Given the description of an element on the screen output the (x, y) to click on. 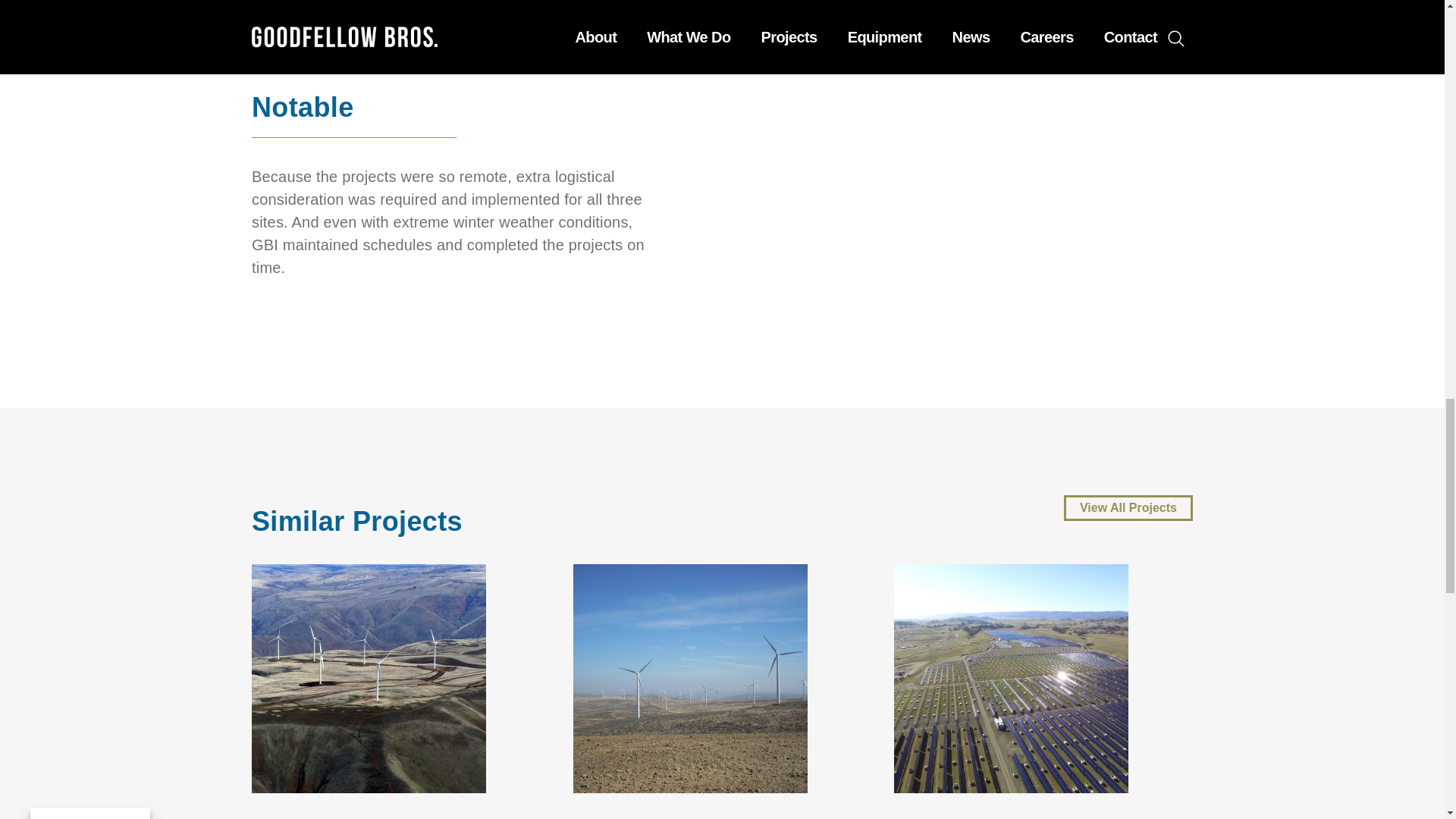
Cal Flats Solar Energy Farm (1010, 676)
Tucannon Wind Farm (368, 676)
Vantage Wind Farm (690, 676)
